Given the description of an element on the screen output the (x, y) to click on. 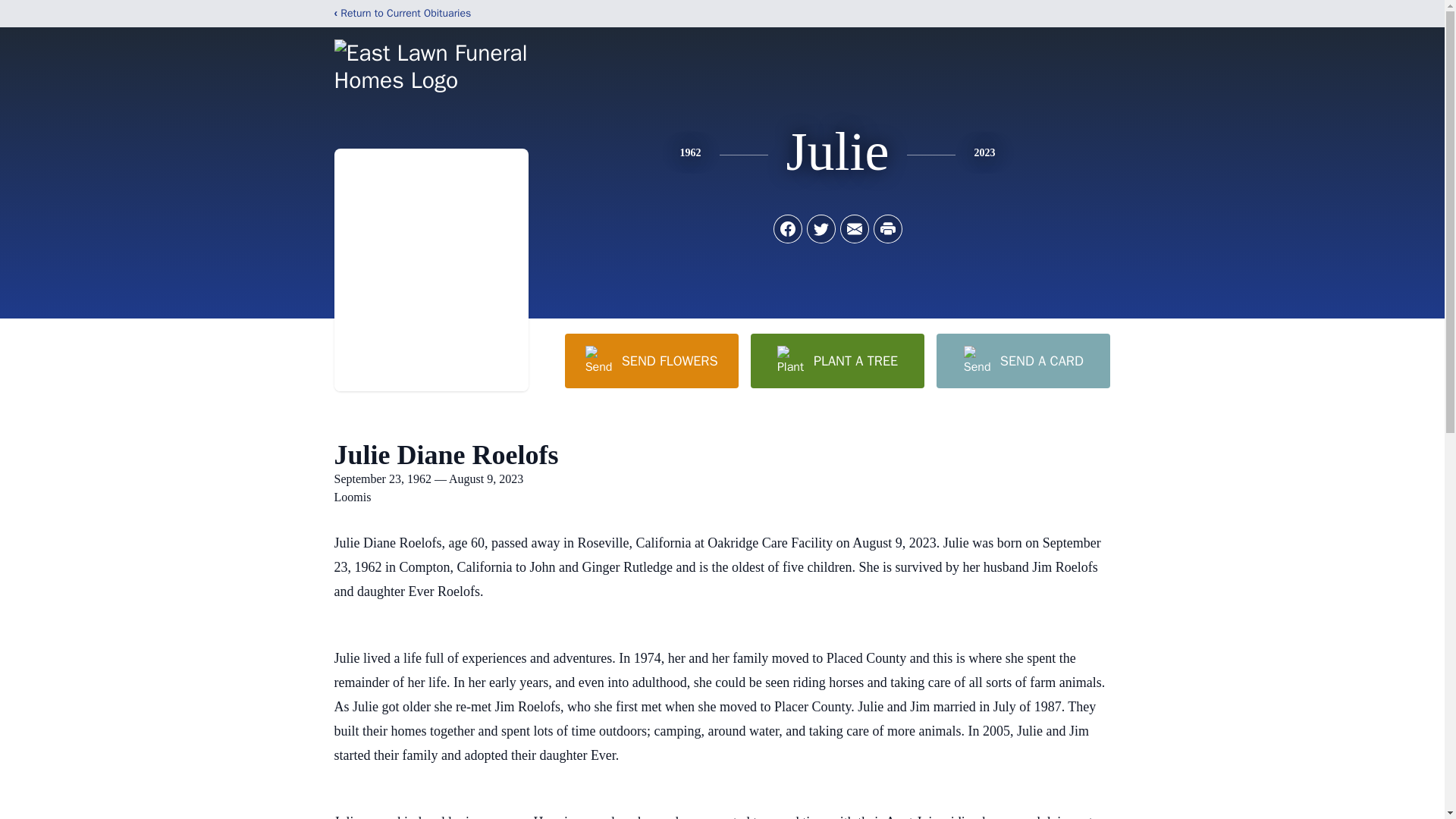
SEND A CARD (1022, 360)
PLANT A TREE (837, 360)
SEND FLOWERS (651, 360)
